Given the description of an element on the screen output the (x, y) to click on. 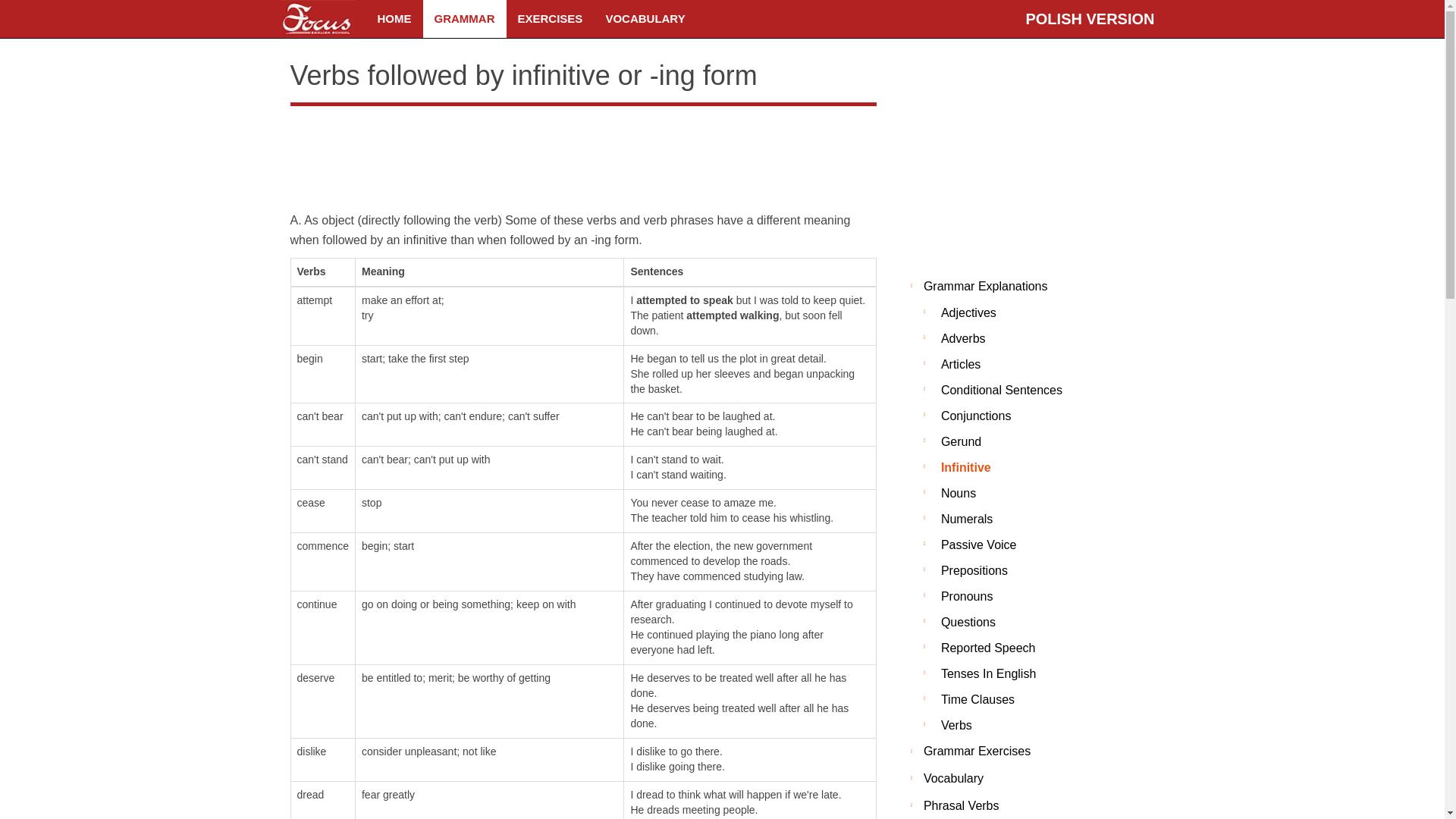
Grammar Exercises (1026, 751)
EXERCISES (550, 18)
Nouns (1026, 493)
Tenses In English (1026, 673)
Time Clauses (1026, 699)
Reported Speech (1026, 647)
Numerals (1026, 519)
VOCABULARY (644, 18)
Gerund (1026, 442)
Questions (1026, 622)
